Given the description of an element on the screen output the (x, y) to click on. 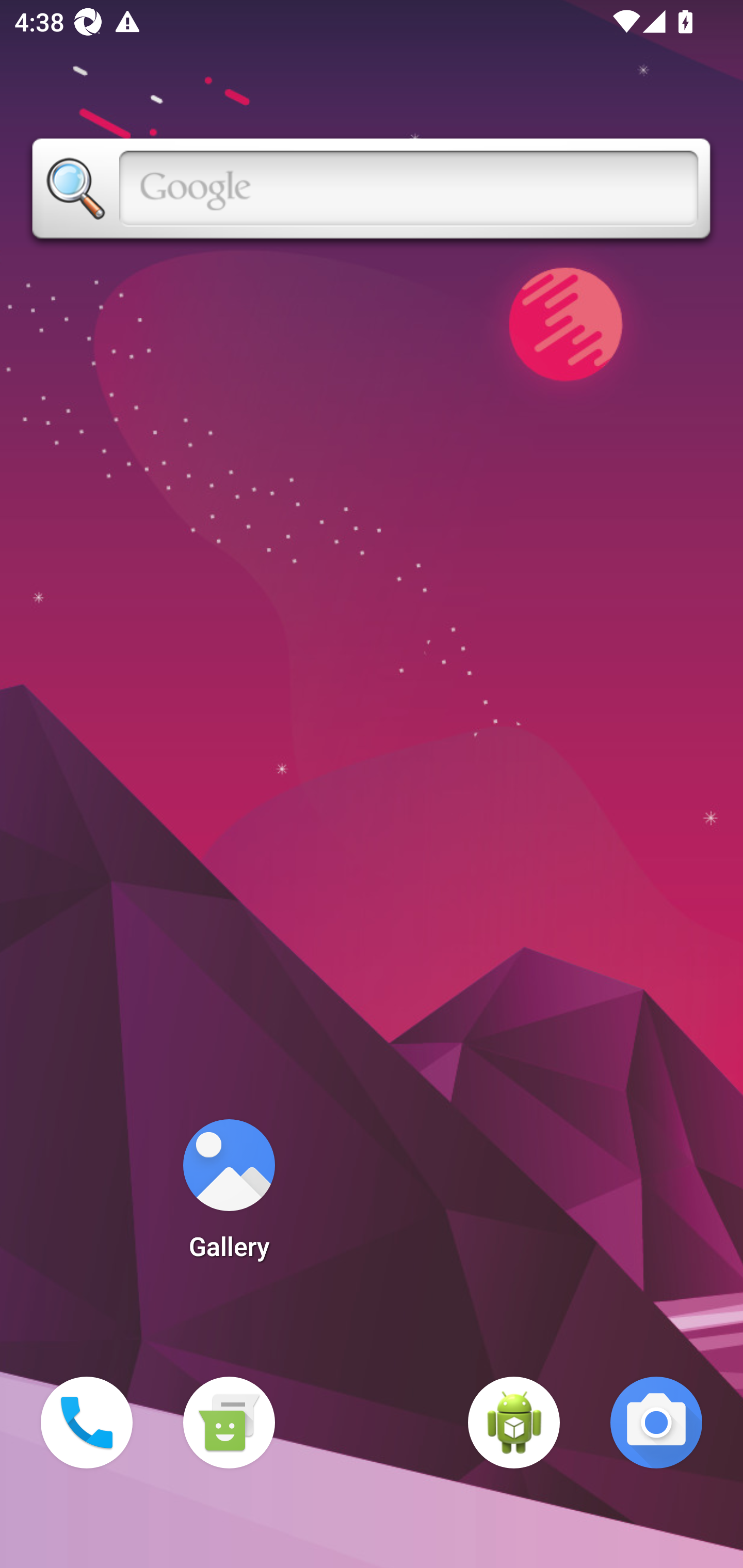
Gallery (228, 1195)
Phone (86, 1422)
Messaging (228, 1422)
WebView Browser Tester (513, 1422)
Camera (656, 1422)
